Given the description of an element on the screen output the (x, y) to click on. 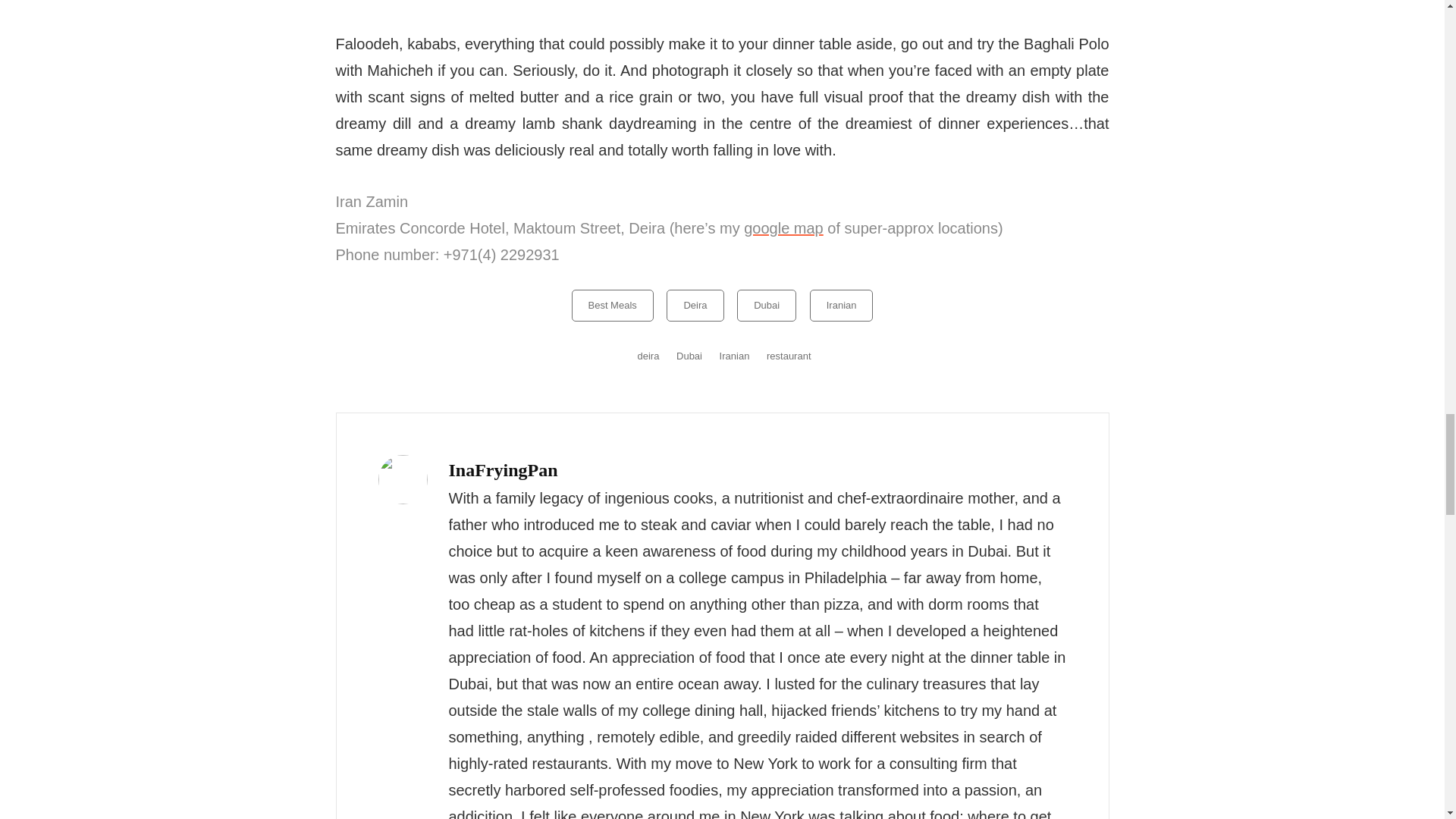
deira (648, 356)
google map (784, 228)
Iranian (841, 305)
Dubai (766, 305)
Dubai (689, 356)
Deira (694, 305)
Best Meals (612, 305)
restaurant (788, 356)
Iranian (734, 356)
